Given the description of an element on the screen output the (x, y) to click on. 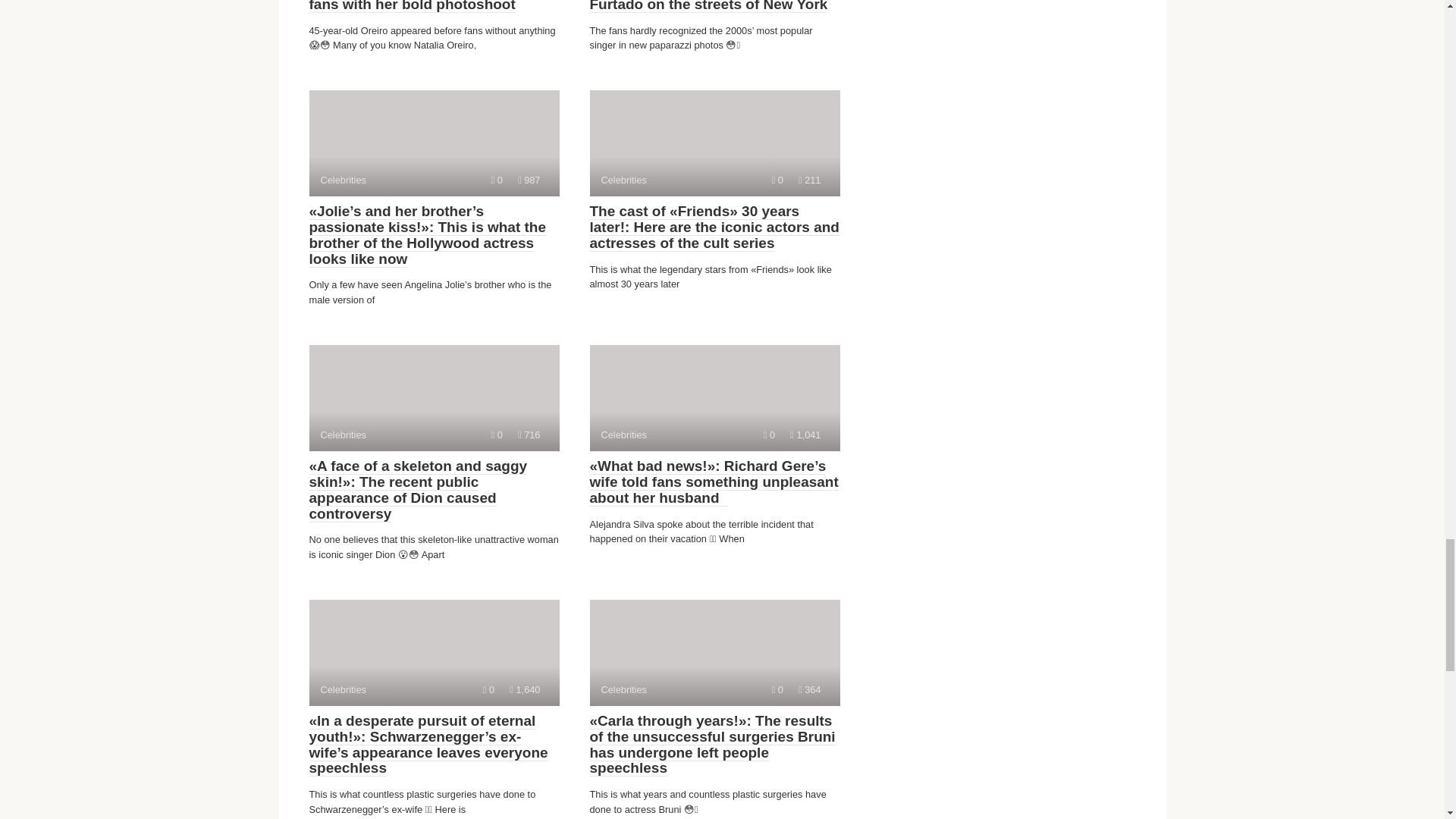
Comments (433, 143)
Views (497, 179)
